Given the description of an element on the screen output the (x, y) to click on. 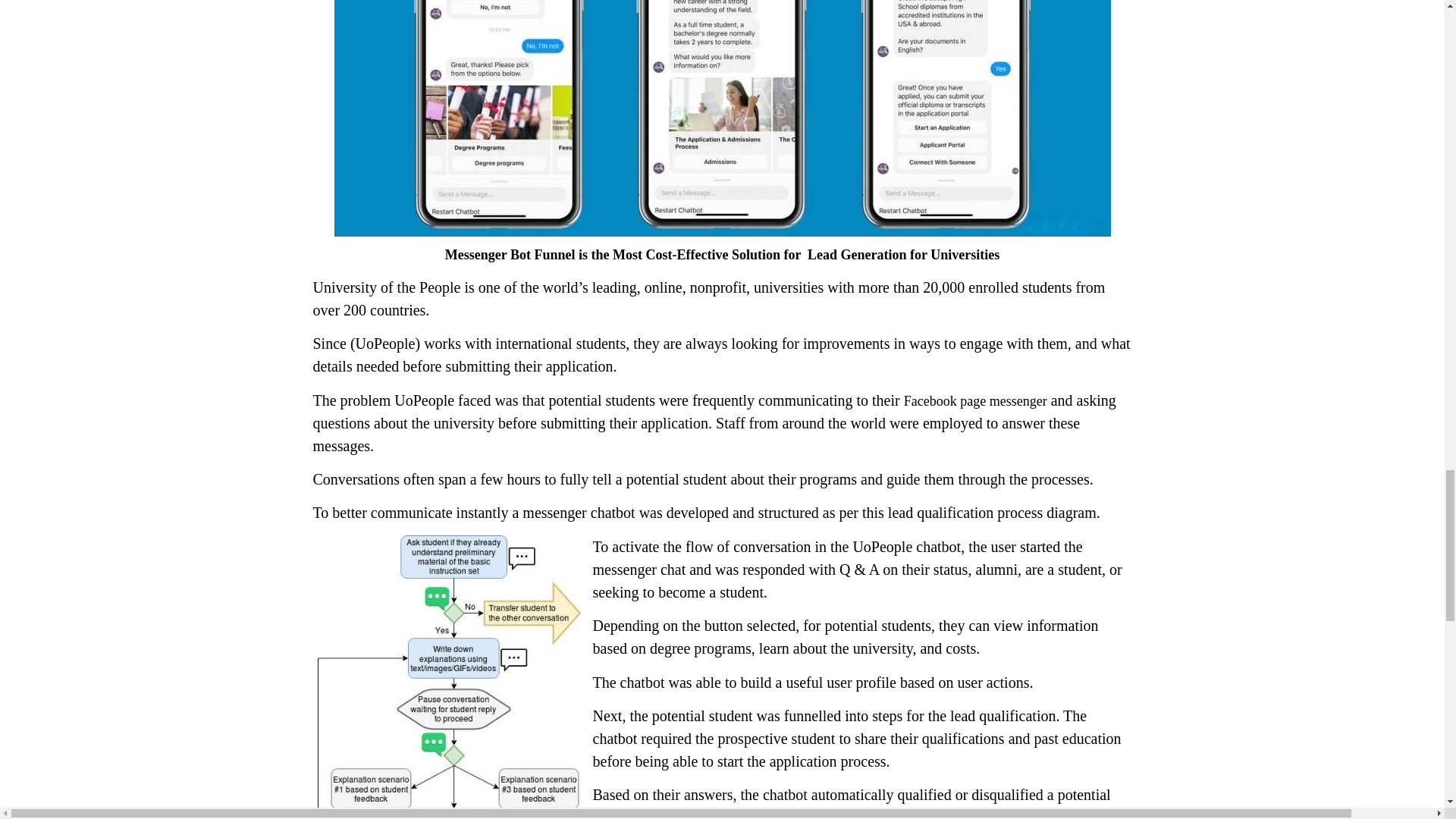
Facebook page messenger (975, 400)
2021 Best Facebook Messenger Chatbot Lead Generation Hacks 4 (446, 677)
